Given the description of an element on the screen output the (x, y) to click on. 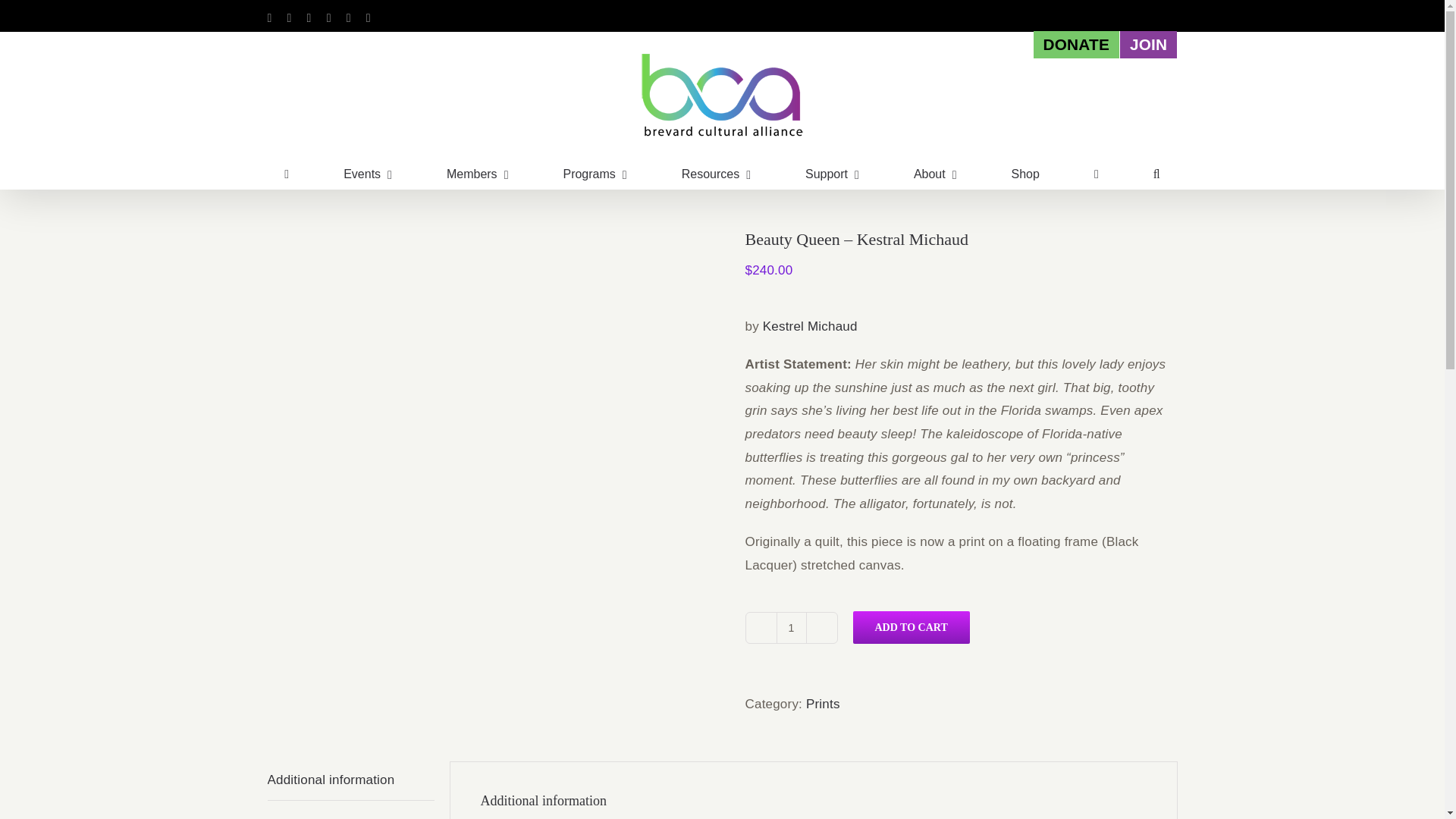
1 (791, 627)
Members (477, 173)
Resources (716, 173)
DONATE (1075, 44)
Events (367, 173)
About (935, 173)
Programs (594, 173)
JOIN (1147, 44)
Support (832, 173)
